Given the description of an element on the screen output the (x, y) to click on. 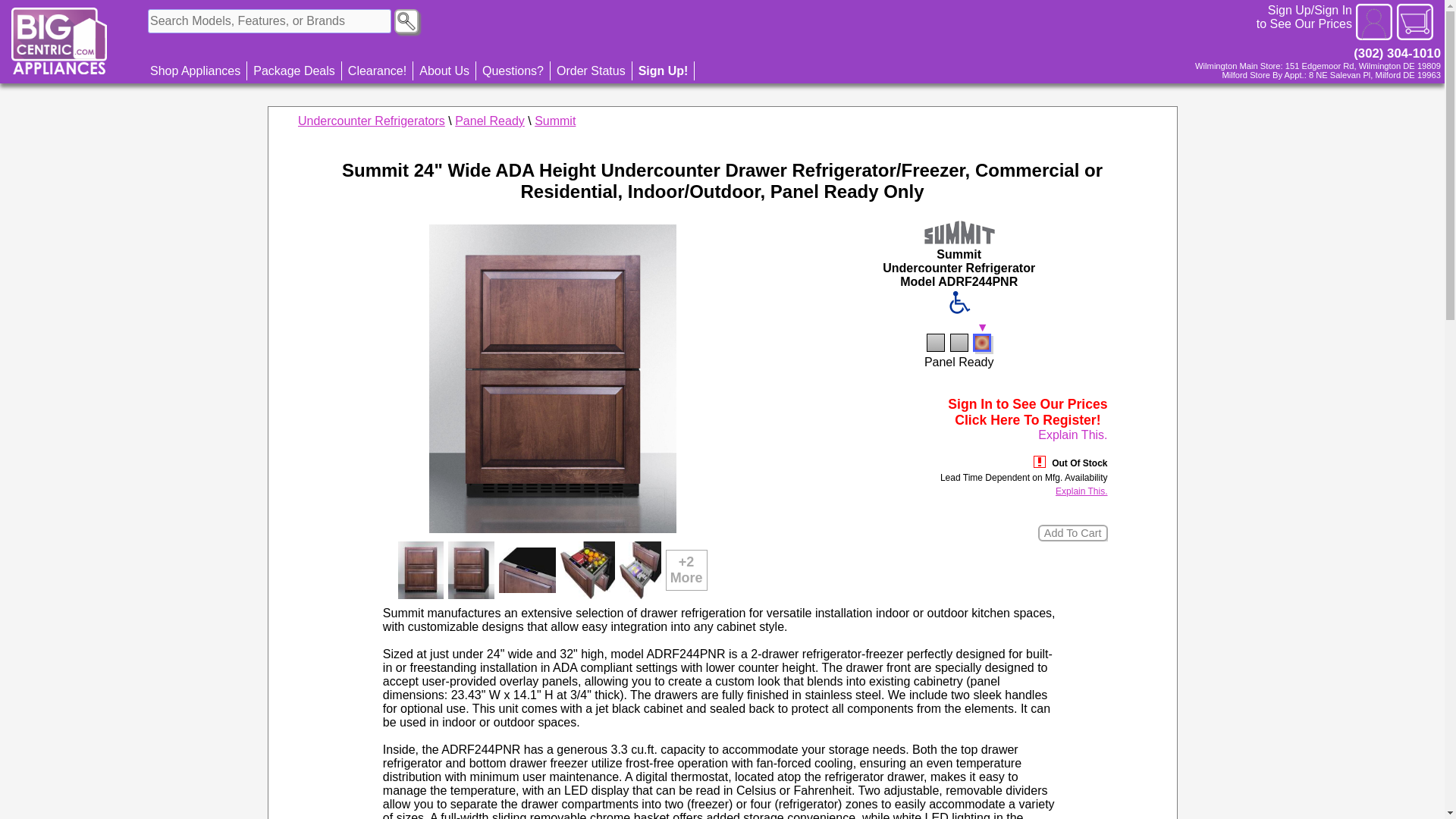
Shop Appliances (195, 70)
Search (406, 20)
BigCentric Logo (58, 40)
ADA Compliant (959, 302)
Package Deals (294, 70)
Cart (1414, 22)
Clearance! (377, 70)
Add To Cart (1073, 532)
